Given the description of an element on the screen output the (x, y) to click on. 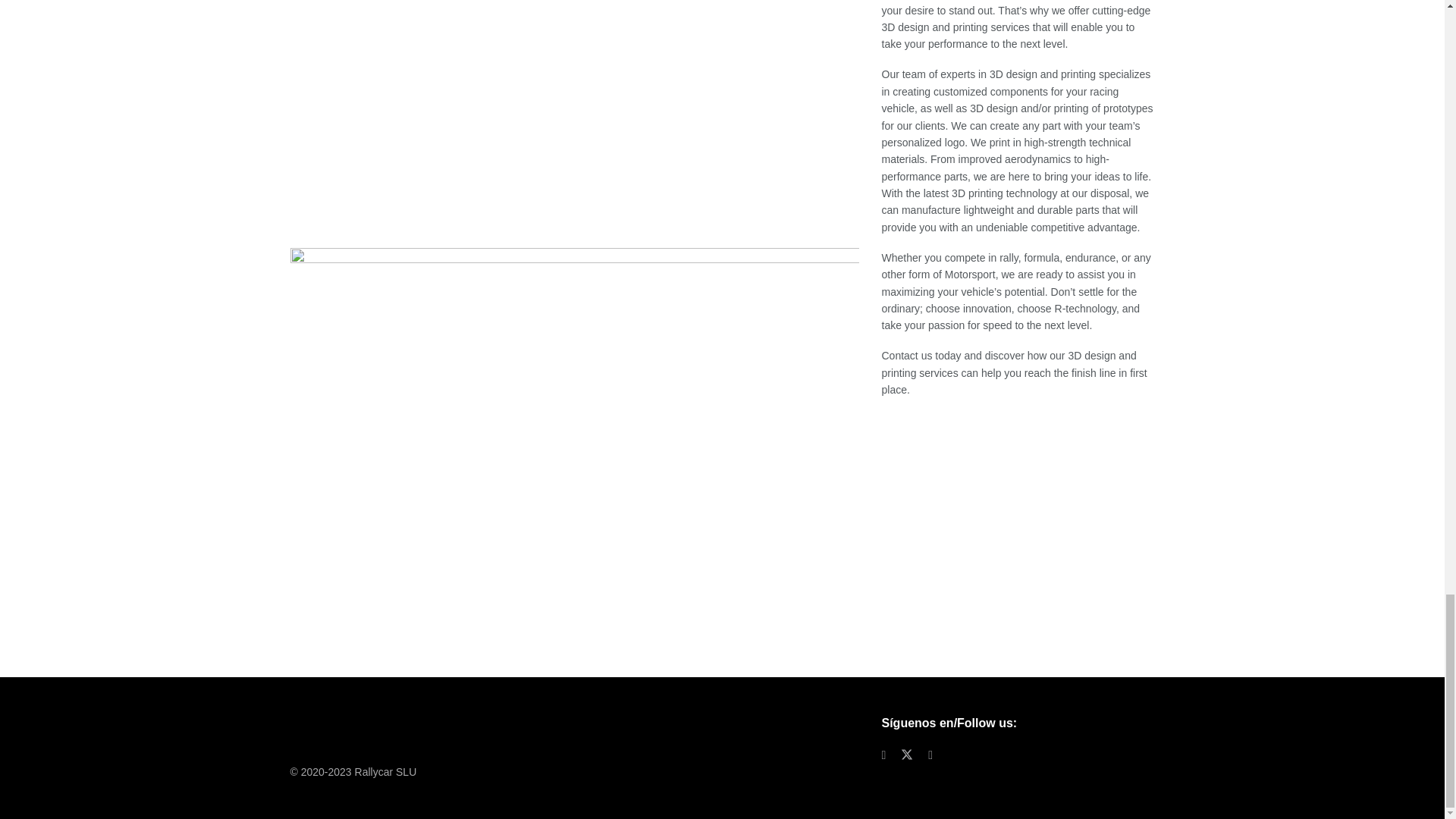
impresion3d (574, 112)
